Given the description of an element on the screen output the (x, y) to click on. 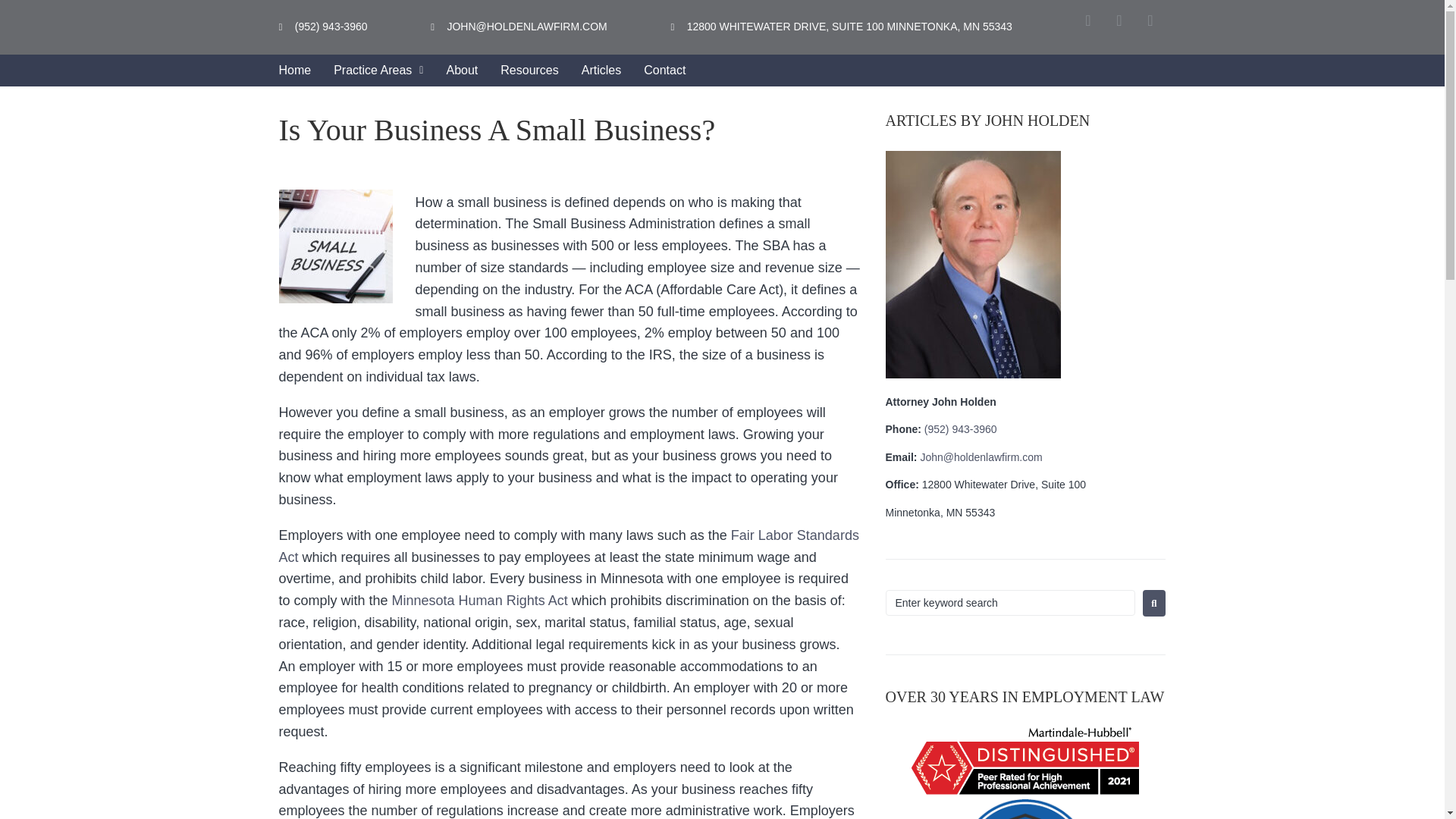
Resources (529, 70)
Home (293, 70)
Articles (600, 70)
Practice Areas (377, 70)
About (461, 70)
Minnesota Human Rights Act (479, 600)
Contact (664, 70)
Fair Labor Standards Act (569, 546)
